Given the description of an element on the screen output the (x, y) to click on. 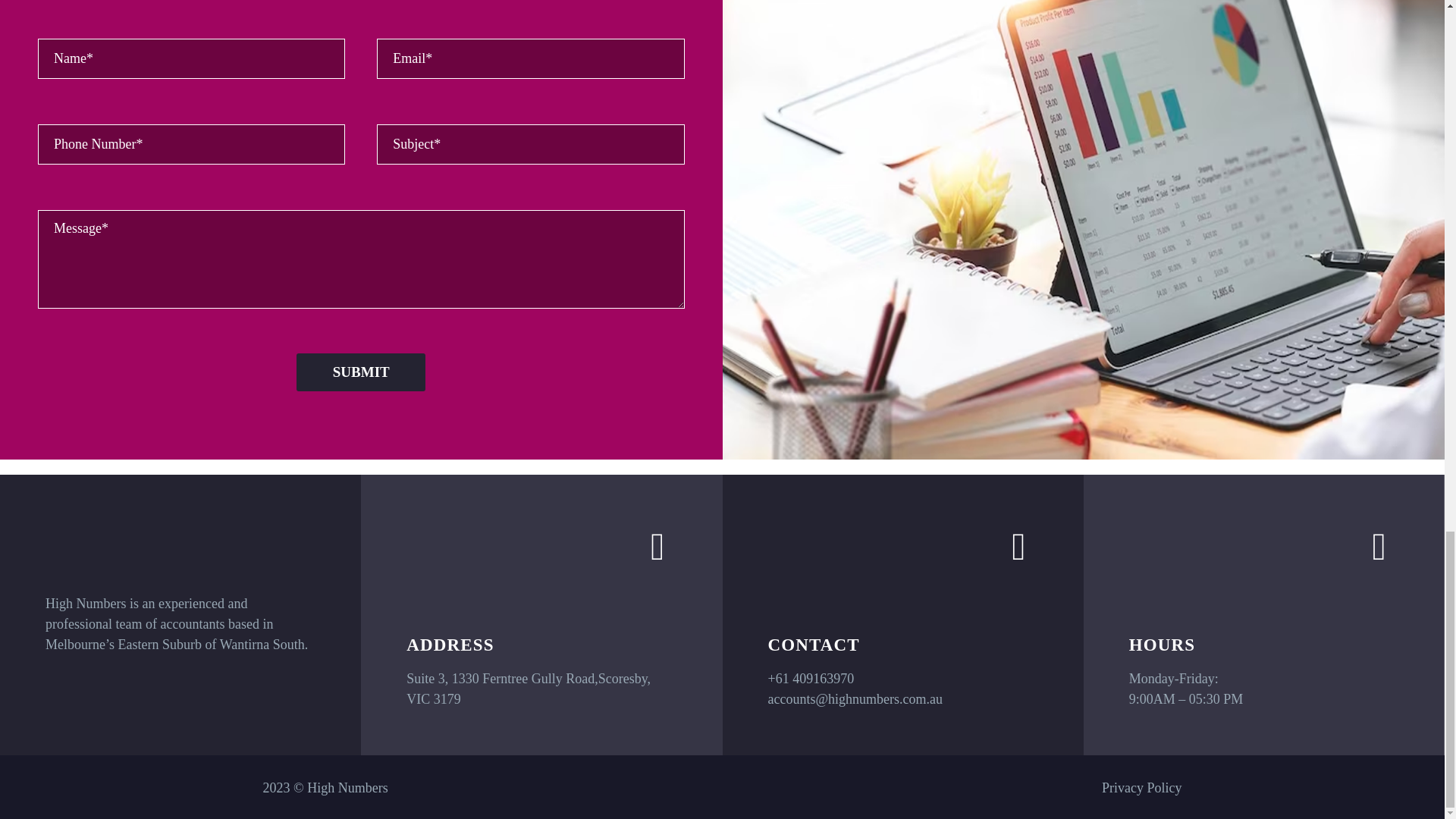
Submit (361, 371)
Privacy Policy (1142, 787)
Submit (361, 371)
